Given the description of an element on the screen output the (x, y) to click on. 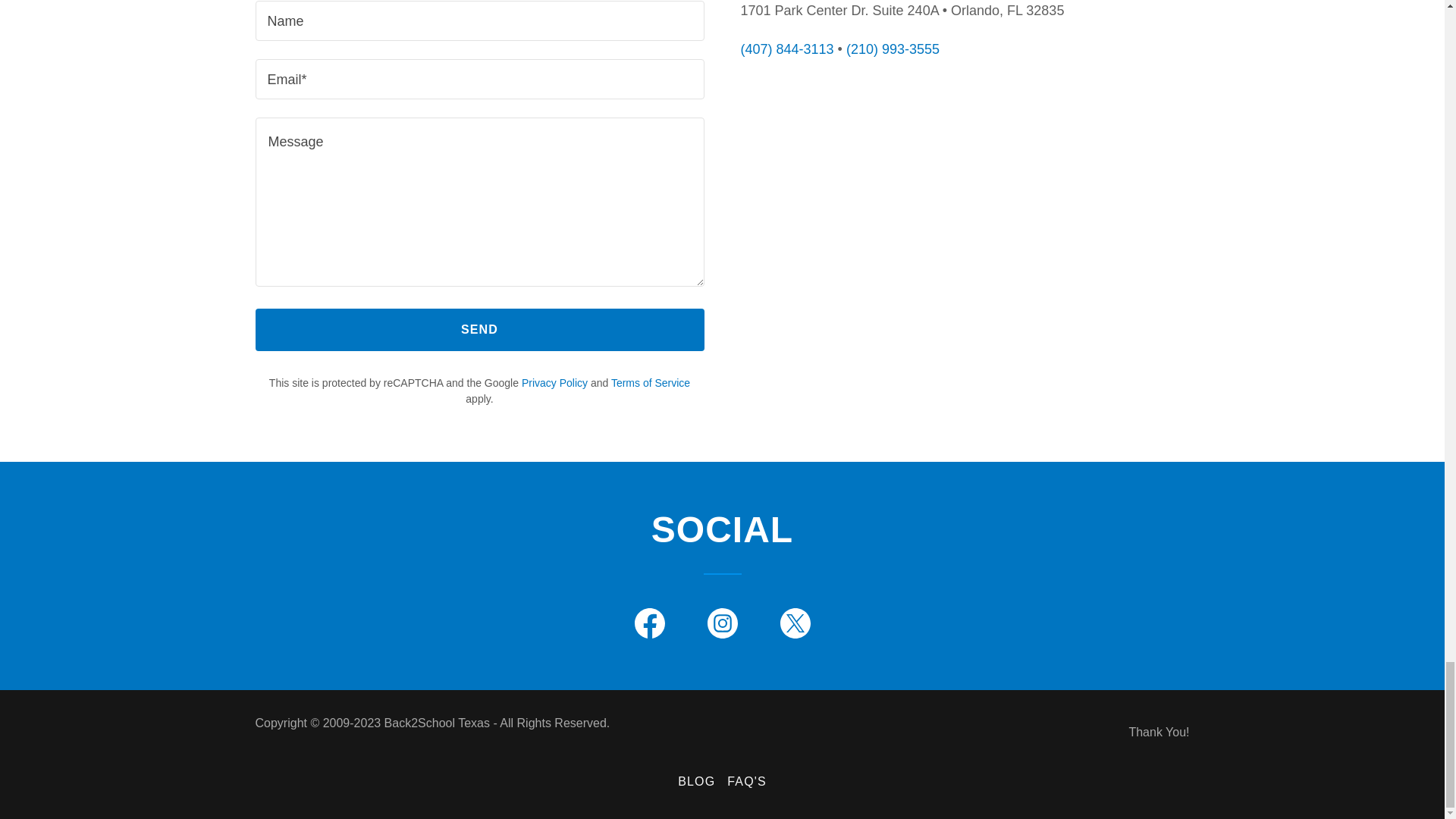
Privacy Policy (554, 382)
SEND (478, 329)
FAQ'S (745, 781)
Terms of Service (650, 382)
BLOG (695, 781)
